Given the description of an element on the screen output the (x, y) to click on. 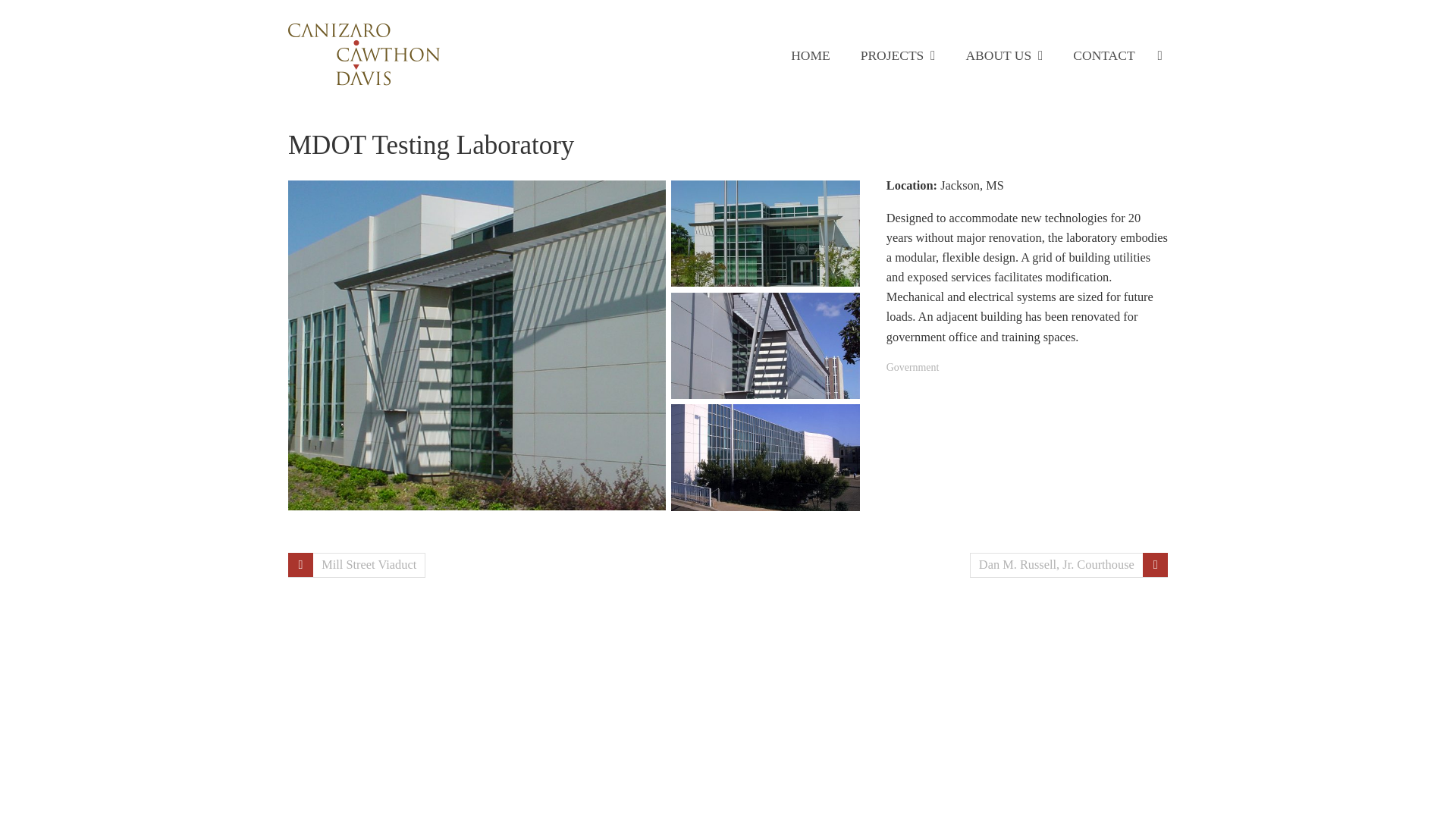
ABOUT US (1004, 55)
PROJECTS (897, 55)
Facebook (991, 564)
